Given the description of an element on the screen output the (x, y) to click on. 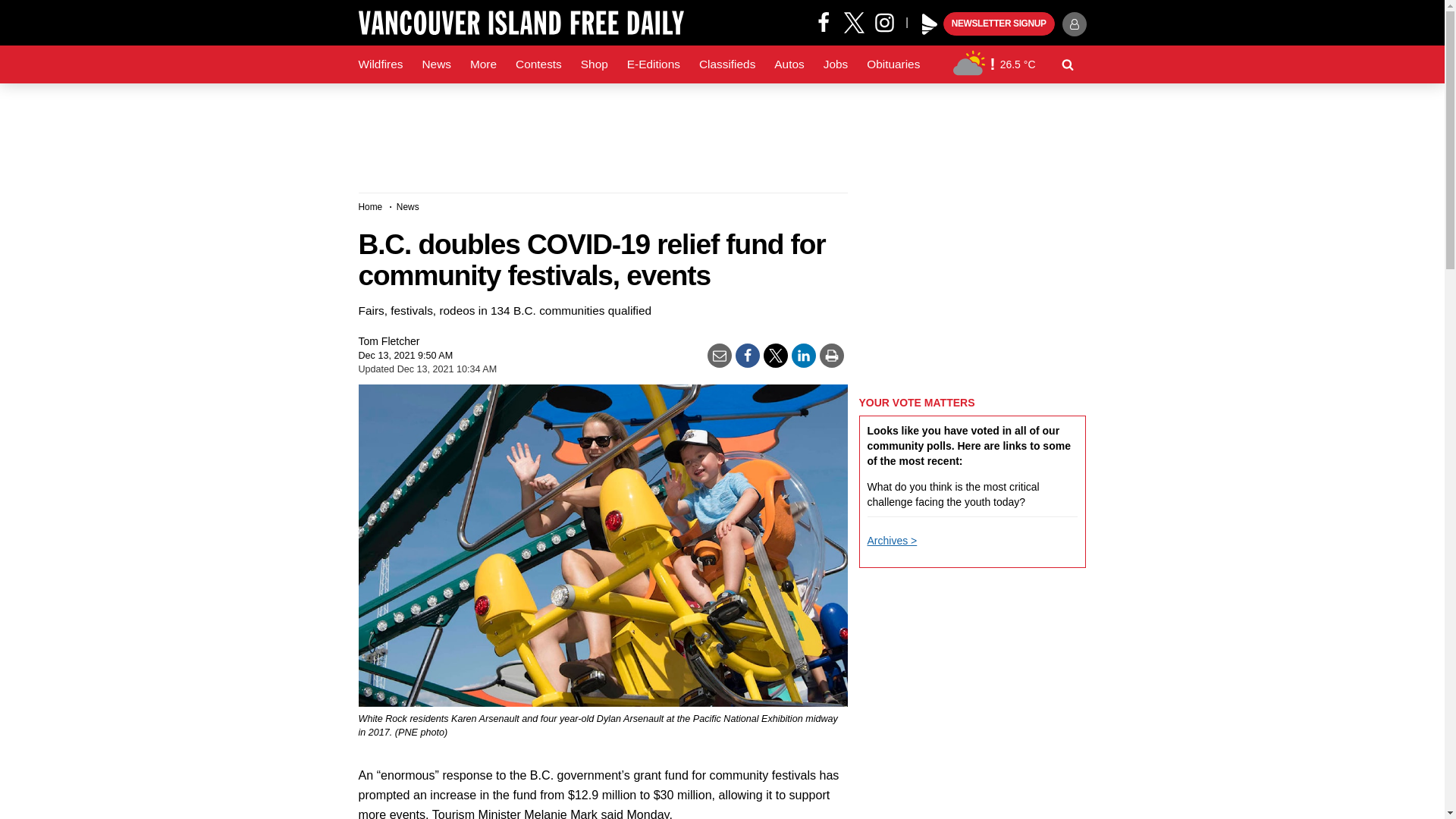
Black Press Media (929, 24)
Facebook (823, 21)
Wildfires (380, 64)
NEWSLETTER SIGNUP (998, 24)
X (853, 21)
Play (929, 24)
News (435, 64)
Instagram (889, 21)
